Given the description of an element on the screen output the (x, y) to click on. 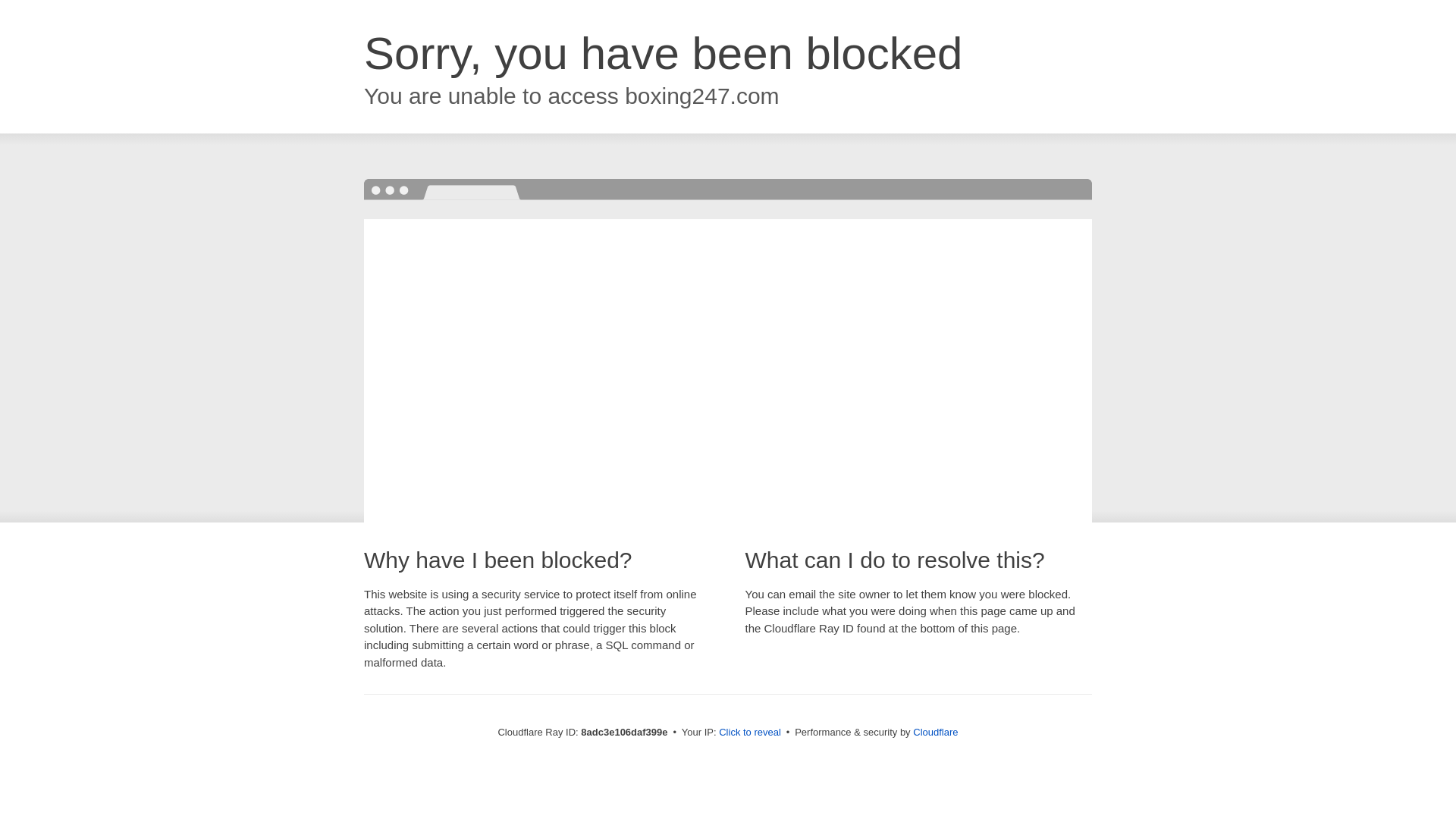
Cloudflare (935, 731)
Click to reveal (749, 732)
